Given the description of an element on the screen output the (x, y) to click on. 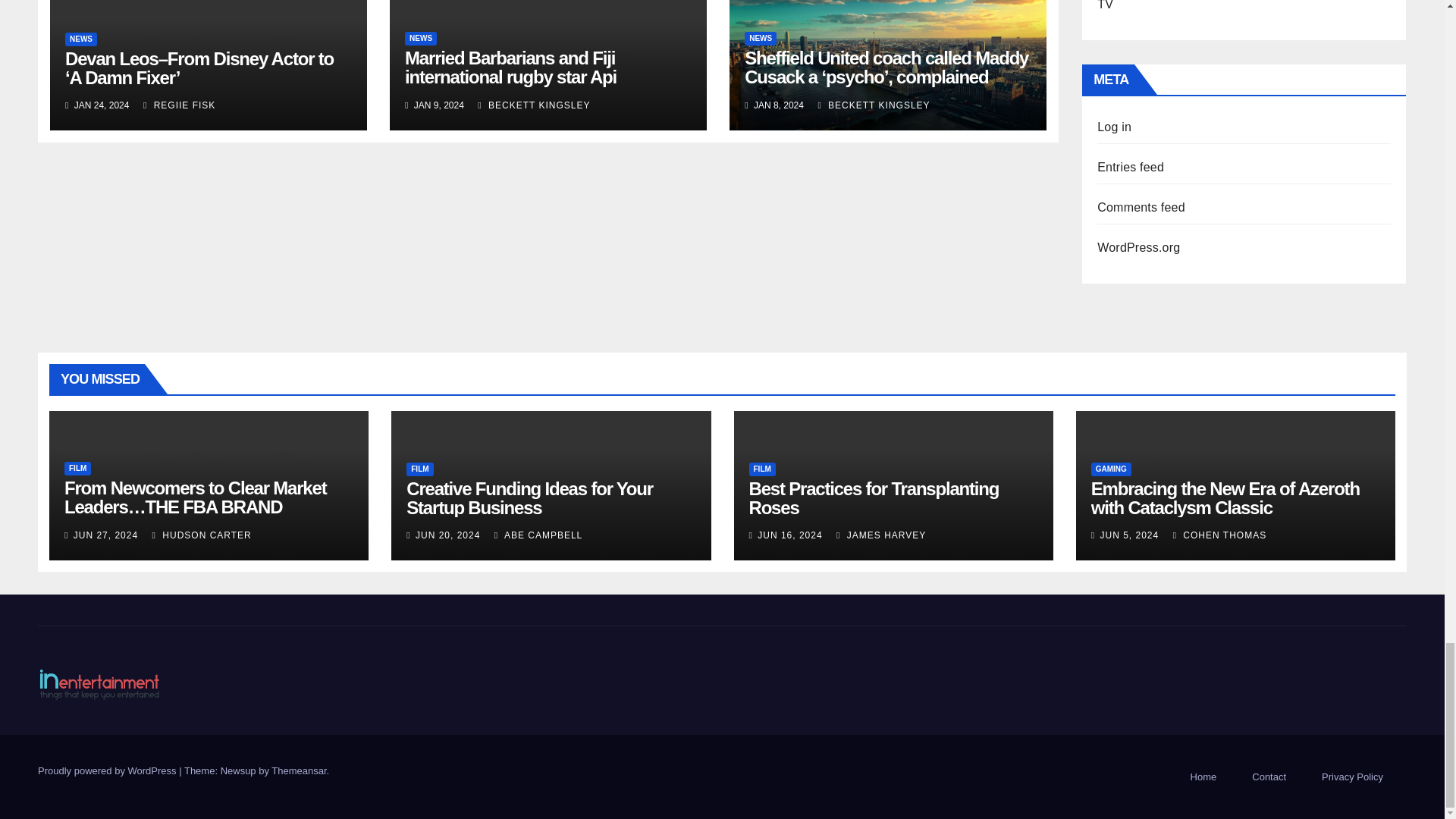
NEWS (760, 38)
Permalink to: Best Practices for Transplanting Roses (873, 497)
REGIIE FISK (178, 104)
NEWS (420, 38)
NEWS (81, 38)
BECKETT KINGSLEY (873, 104)
Home (1202, 776)
BECKETT KINGSLEY (533, 104)
